Given the description of an element on the screen output the (x, y) to click on. 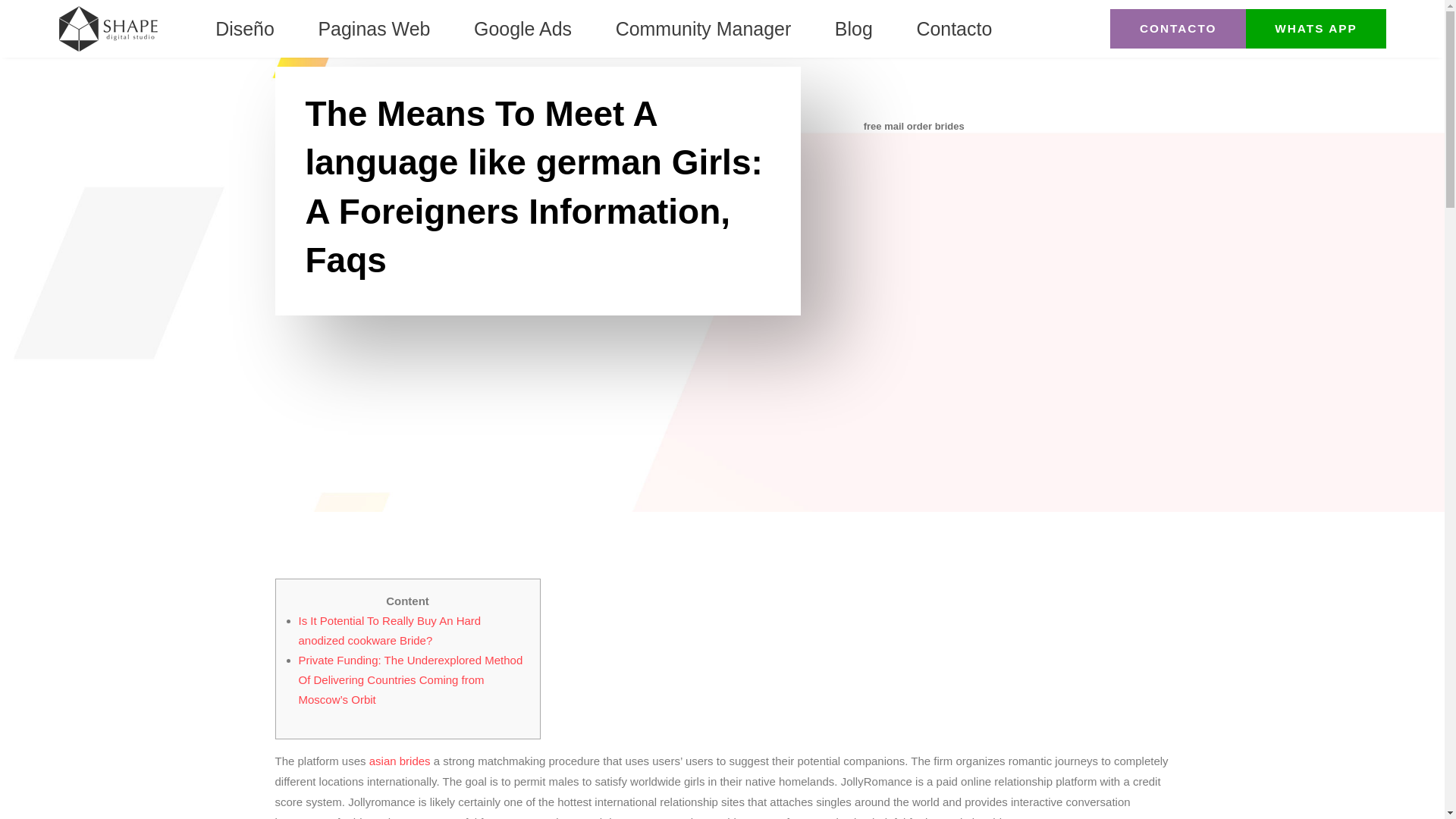
asian brides (399, 760)
Google Ads (523, 28)
free mail order brides (913, 125)
Paginas Web (373, 28)
CONTACTO (1176, 29)
WHATS APP (1316, 29)
Community Manager (703, 28)
Contacto (953, 28)
